Given the description of an element on the screen output the (x, y) to click on. 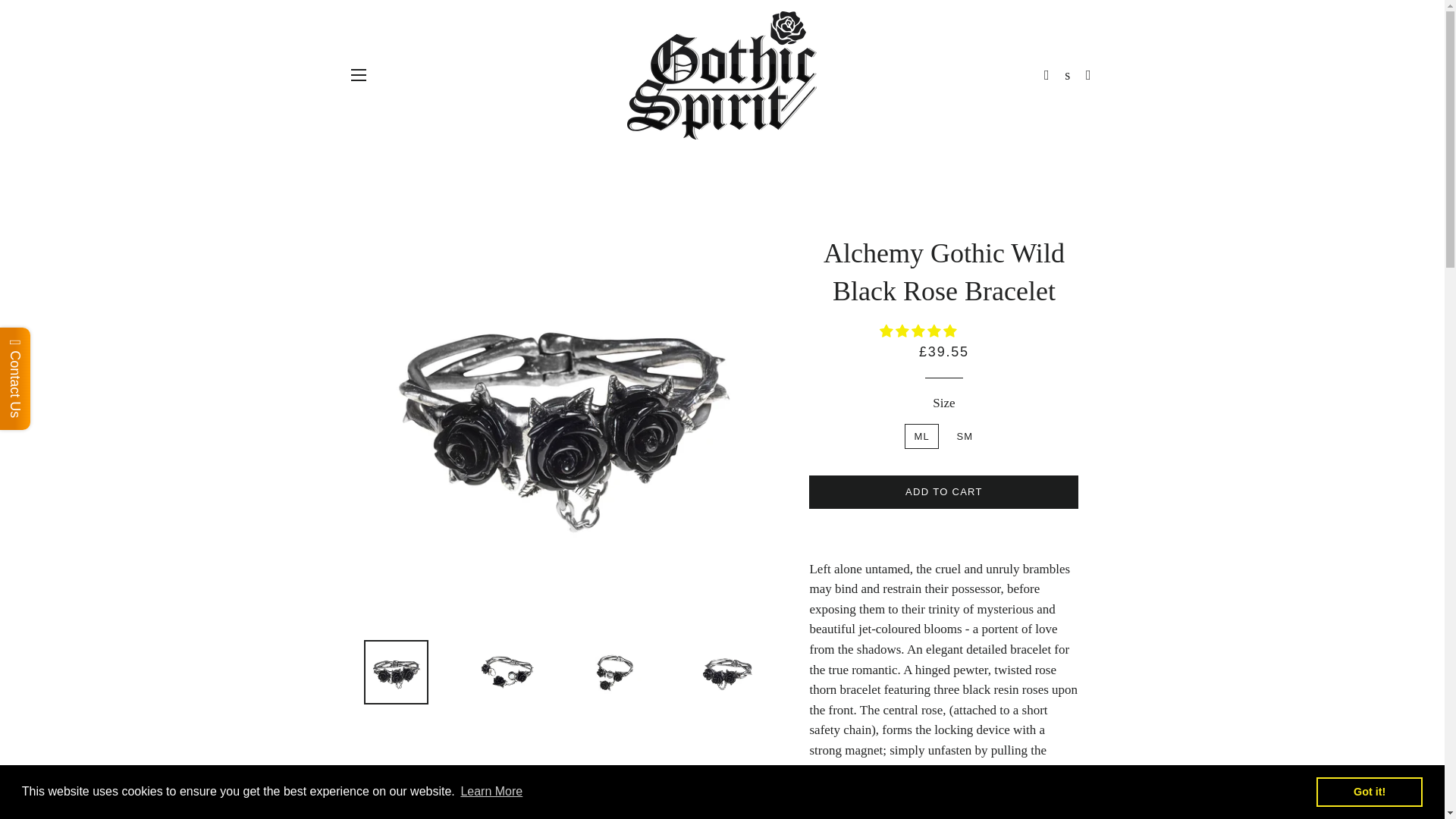
Learn More (491, 791)
Got it! (1369, 791)
SITE NAVIGATION (358, 75)
